Given the description of an element on the screen output the (x, y) to click on. 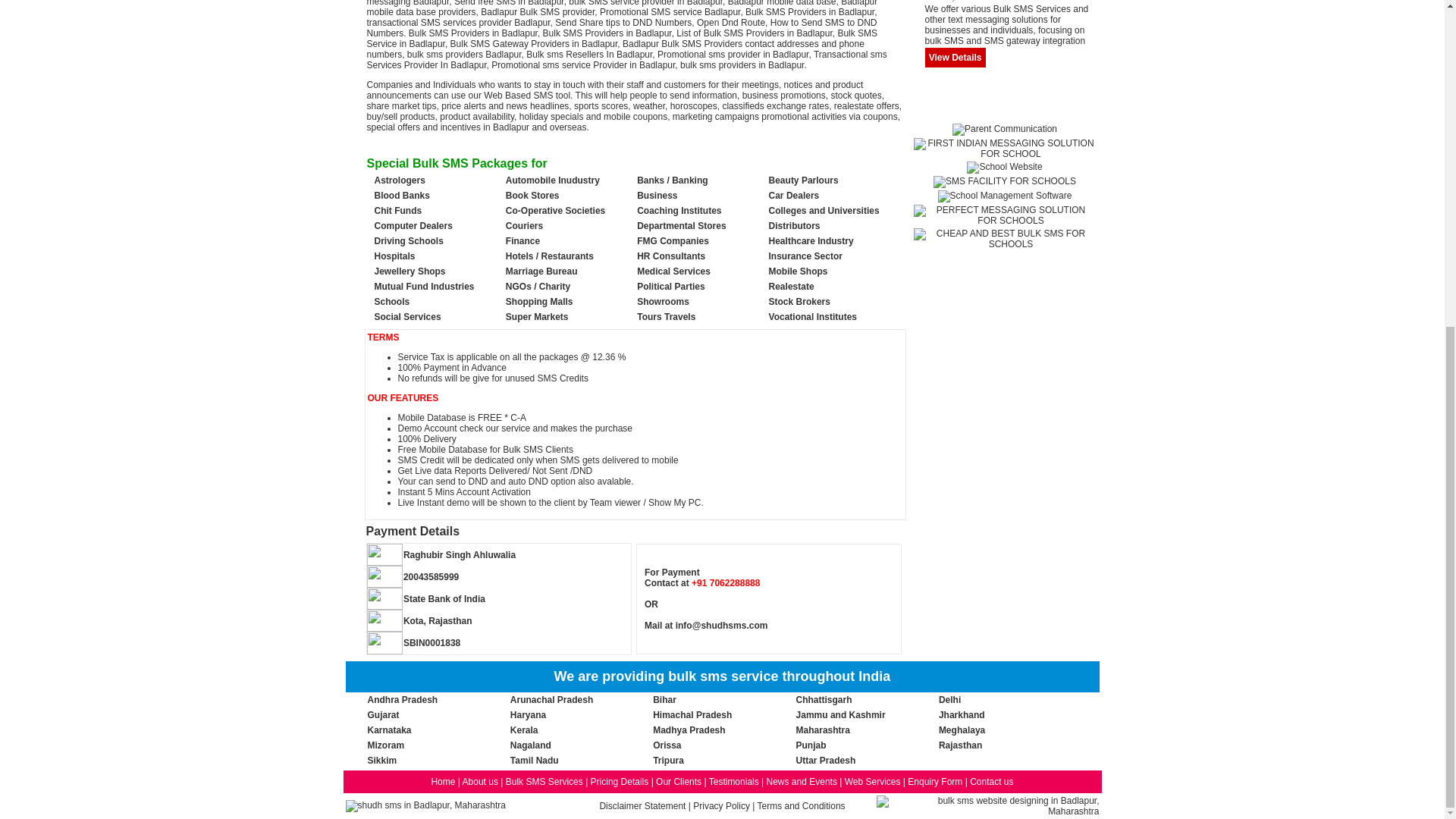
Andhra Pradesh (402, 699)
Arunachal Pradesh (551, 699)
bulk sms provider in Andhra Pradesh, India (402, 699)
Jammu and Kashmir (840, 715)
bulk sms provider in Arunachal Pradesh, India (551, 699)
School Management Software (1004, 195)
Karnataka (388, 729)
Himachal Pradesh (692, 715)
PERFECT MESSAGING SOLUTION FOR SCHOOLS (1005, 220)
